Given the description of an element on the screen output the (x, y) to click on. 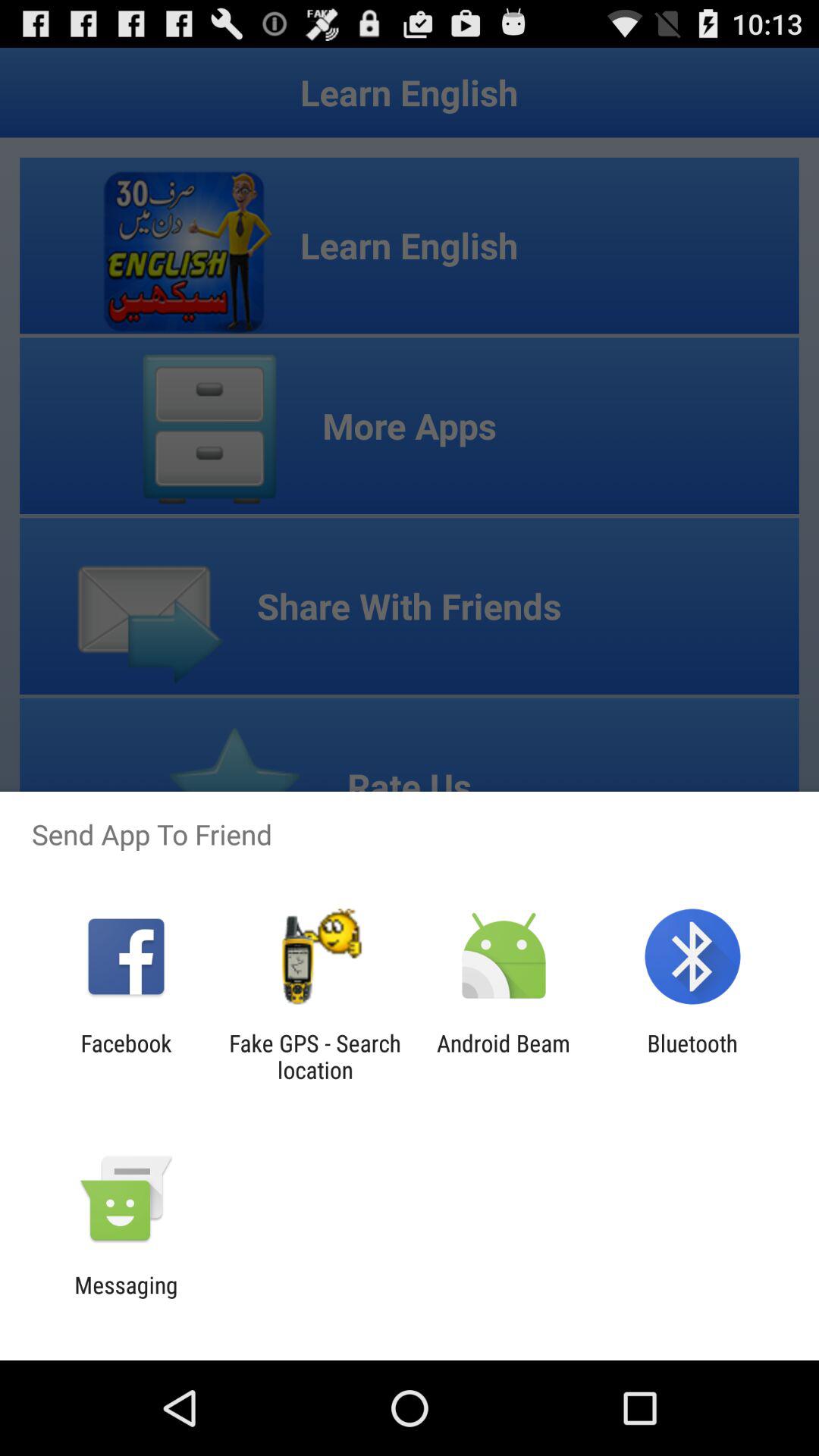
press the app to the right of the facebook item (314, 1056)
